Given the description of an element on the screen output the (x, y) to click on. 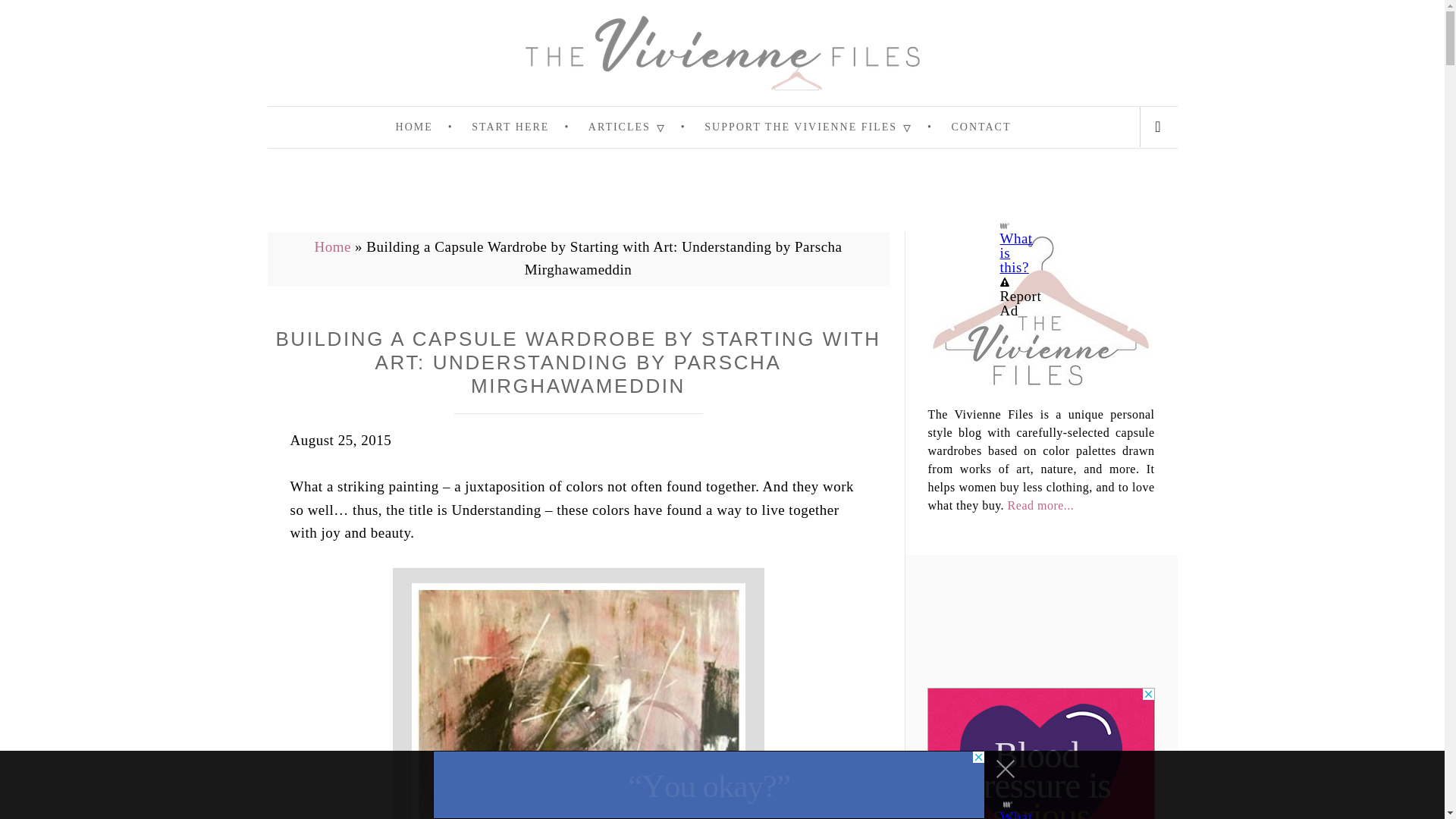
3rd party ad content (708, 785)
SUPPORT THE VIVIENNE FILES (825, 127)
START HERE (528, 127)
ARTICLES (644, 127)
CONTACT (980, 127)
3rd party ad content (1040, 753)
3rd party ad content (721, 197)
HOME (432, 127)
Home (332, 246)
